Given the description of an element on the screen output the (x, y) to click on. 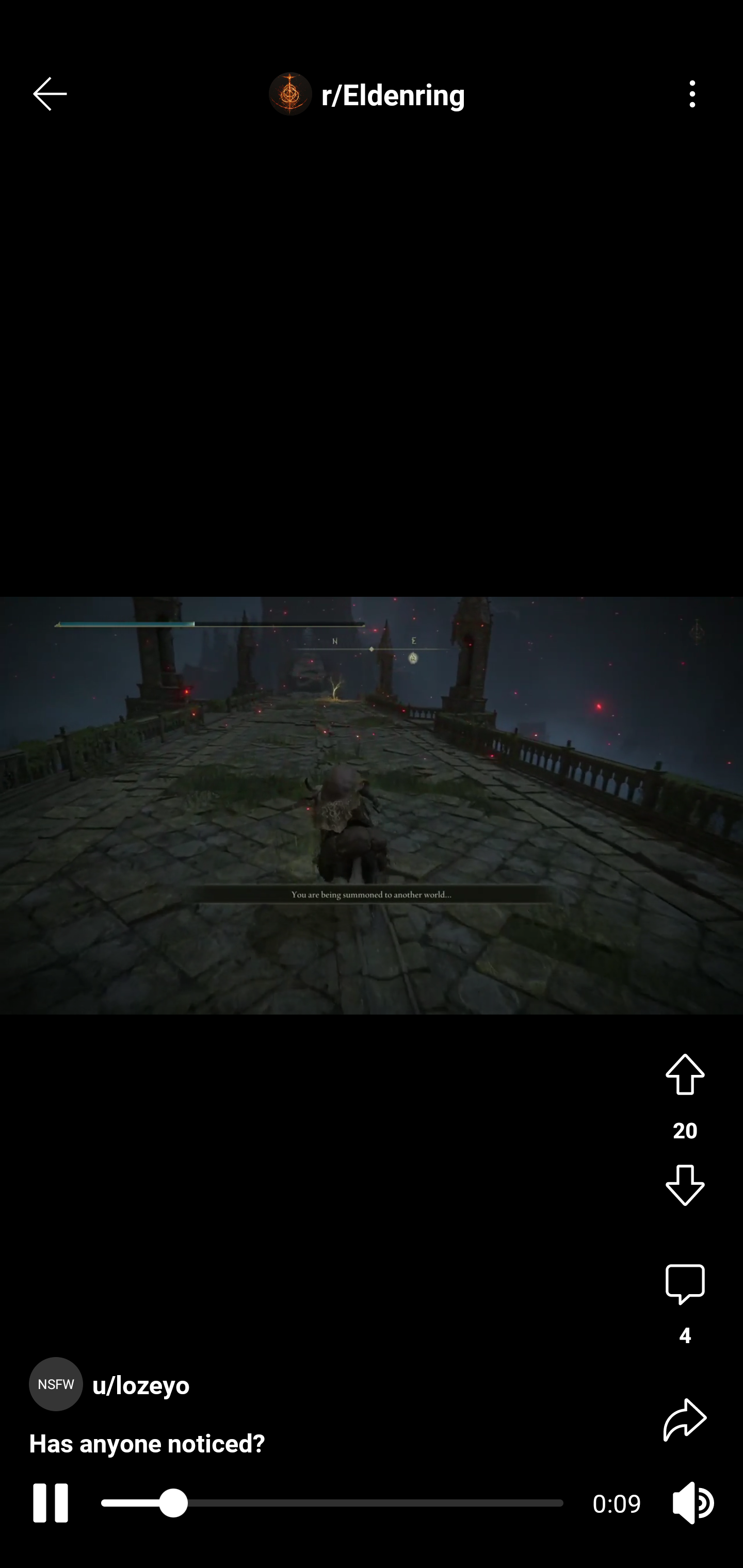
Back (50, 93)
r slash Eldenring (371, 93)
More options (692, 93)
Upvote this post (684, 1071)
Downvote this post (684, 1187)
4 comments (684, 1305)
lozeyo, post creator (113, 1366)
Share this post (684, 1417)
Has anyone noticed? (146, 1425)
Pause (46, 1502)
Mute (692, 1502)
